Given the description of an element on the screen output the (x, y) to click on. 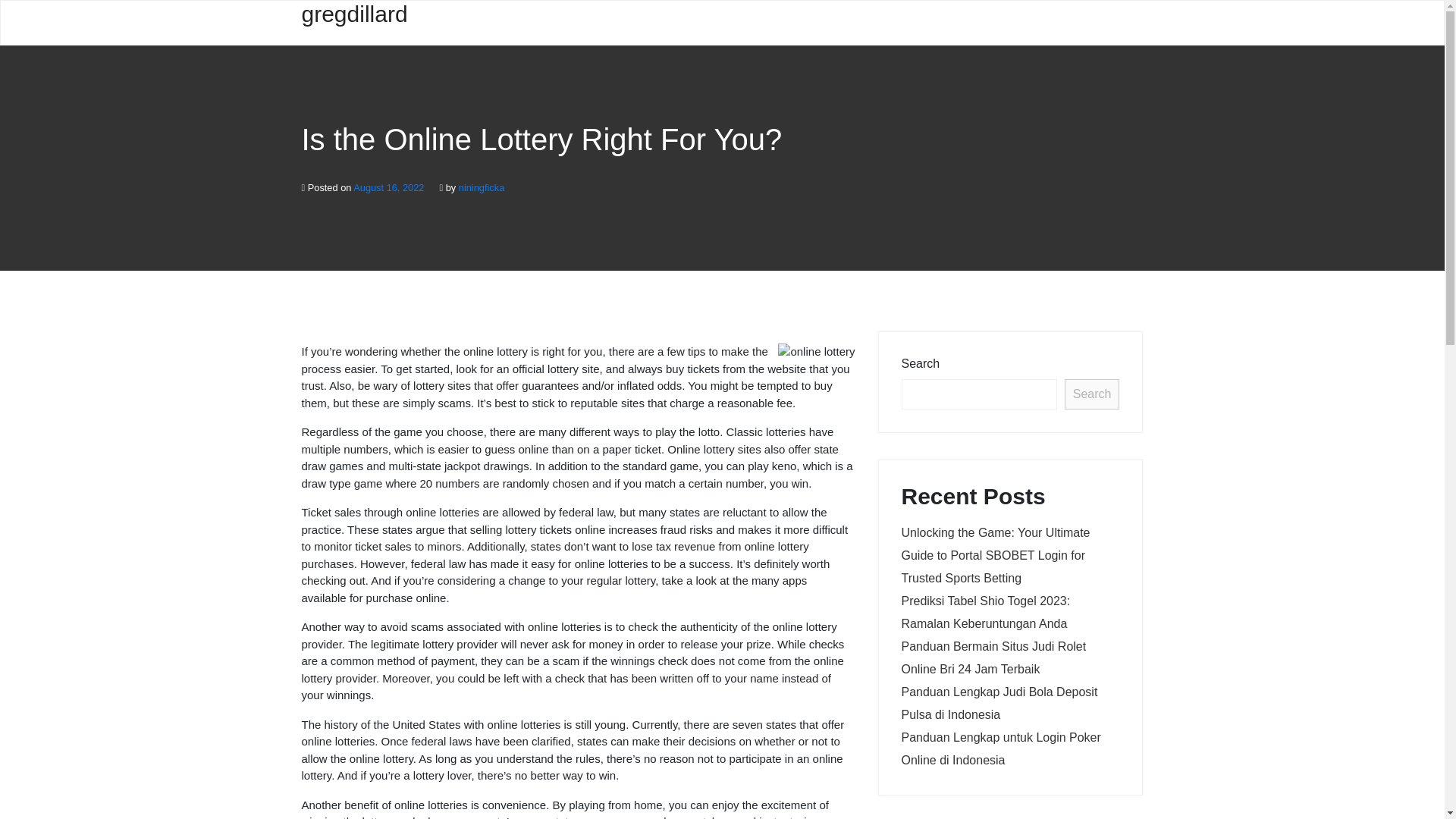
Panduan Bermain Situs Judi Rolet Online Bri 24 Jam Terbaik (993, 657)
Panduan Lengkap untuk Login Poker Online di Indonesia (1000, 748)
Prediksi Tabel Shio Togel 2023: Ramalan Keberuntungan Anda (985, 611)
niningficka (480, 187)
Panduan Lengkap Judi Bola Deposit Pulsa di Indonesia (999, 703)
Search (1091, 394)
August 16, 2022 (388, 187)
gregdillard (354, 22)
